Given the description of an element on the screen output the (x, y) to click on. 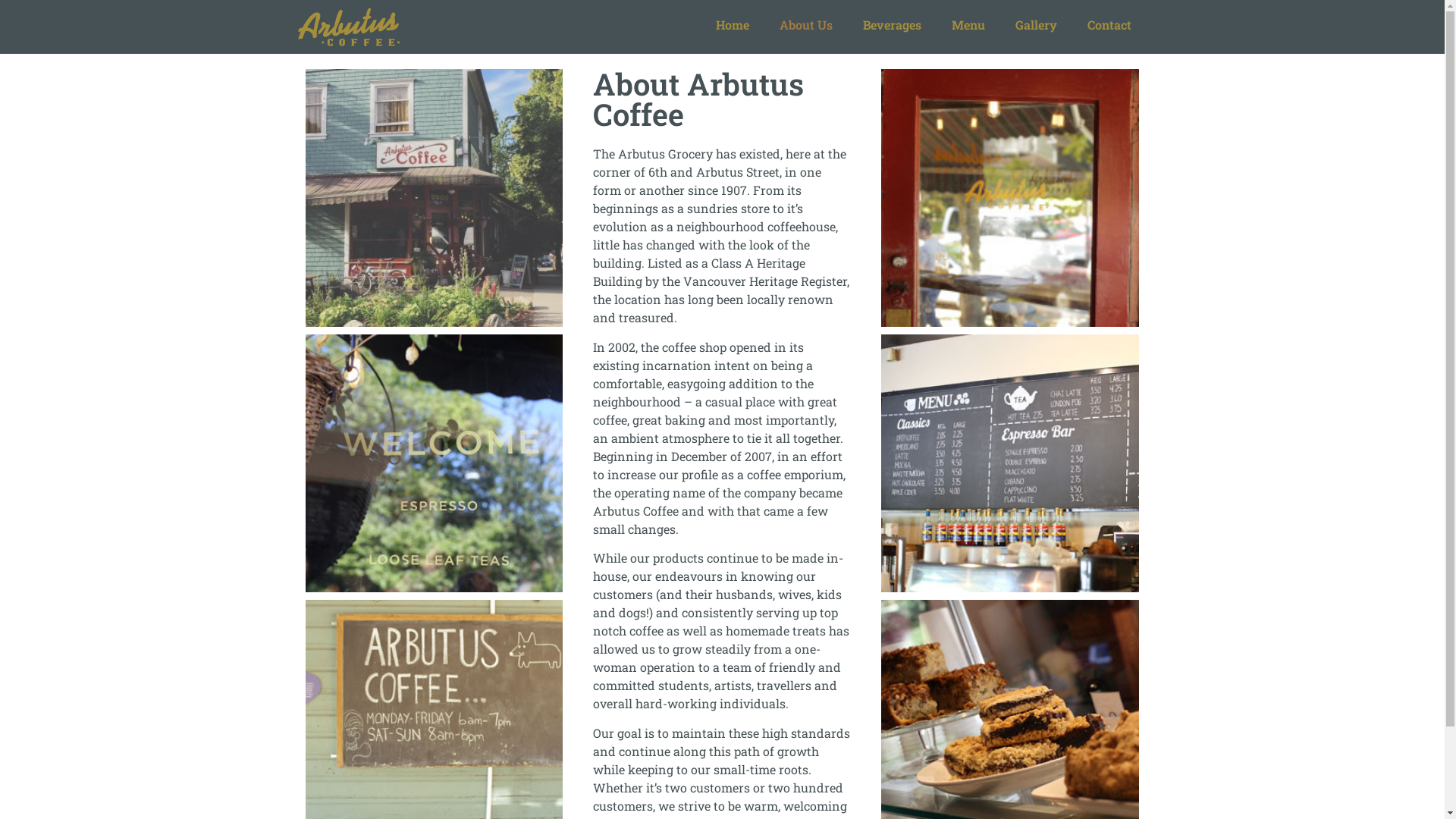
Menu Element type: text (968, 24)
About Us Element type: text (805, 24)
Home Element type: text (732, 24)
Beverages Element type: text (891, 24)
Gallery Element type: text (1036, 24)
Contact Element type: text (1109, 24)
